Given the description of an element on the screen output the (x, y) to click on. 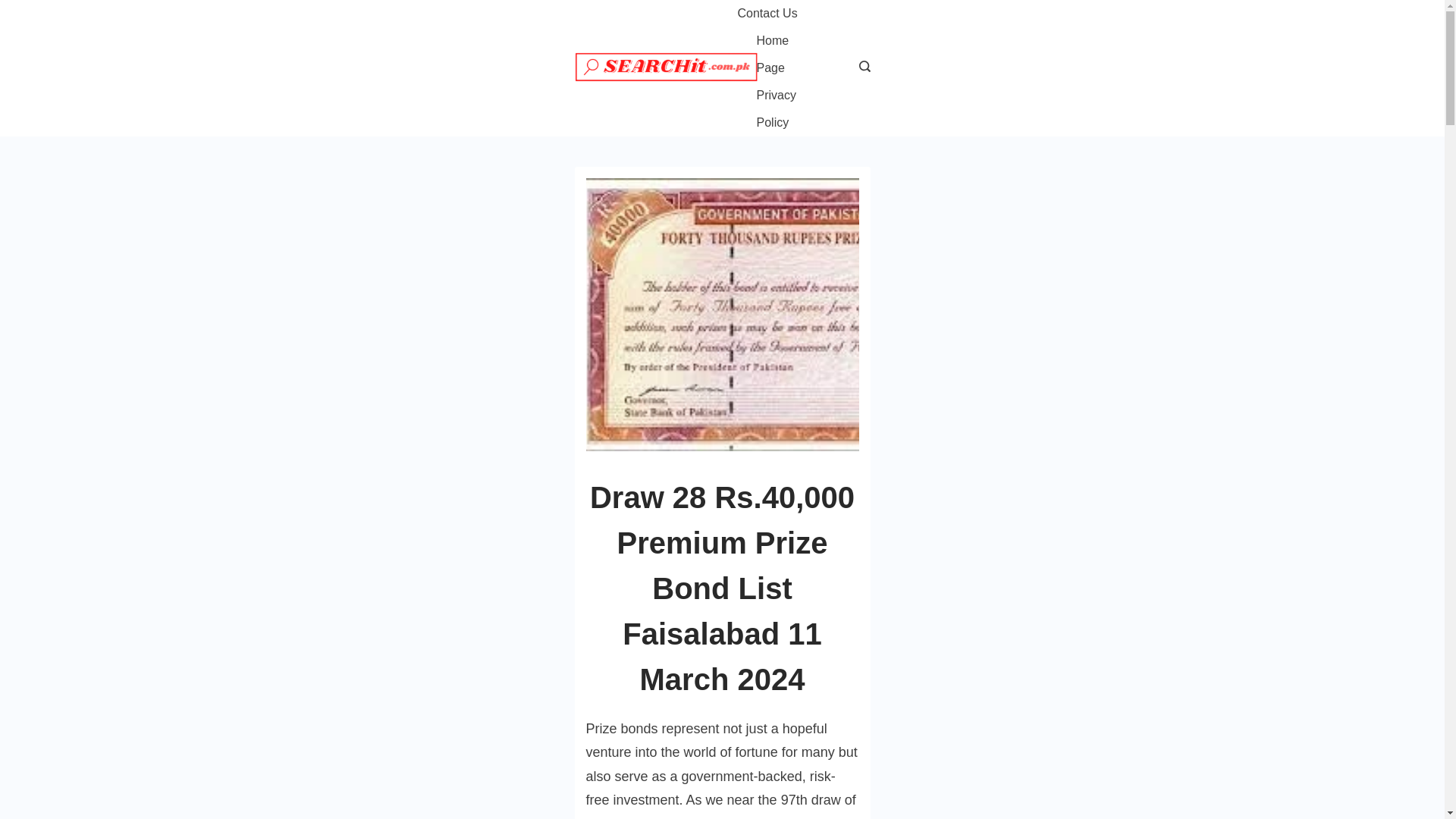
Contact Us (775, 13)
Privacy Policy (782, 108)
Home Page (782, 54)
